Given the description of an element on the screen output the (x, y) to click on. 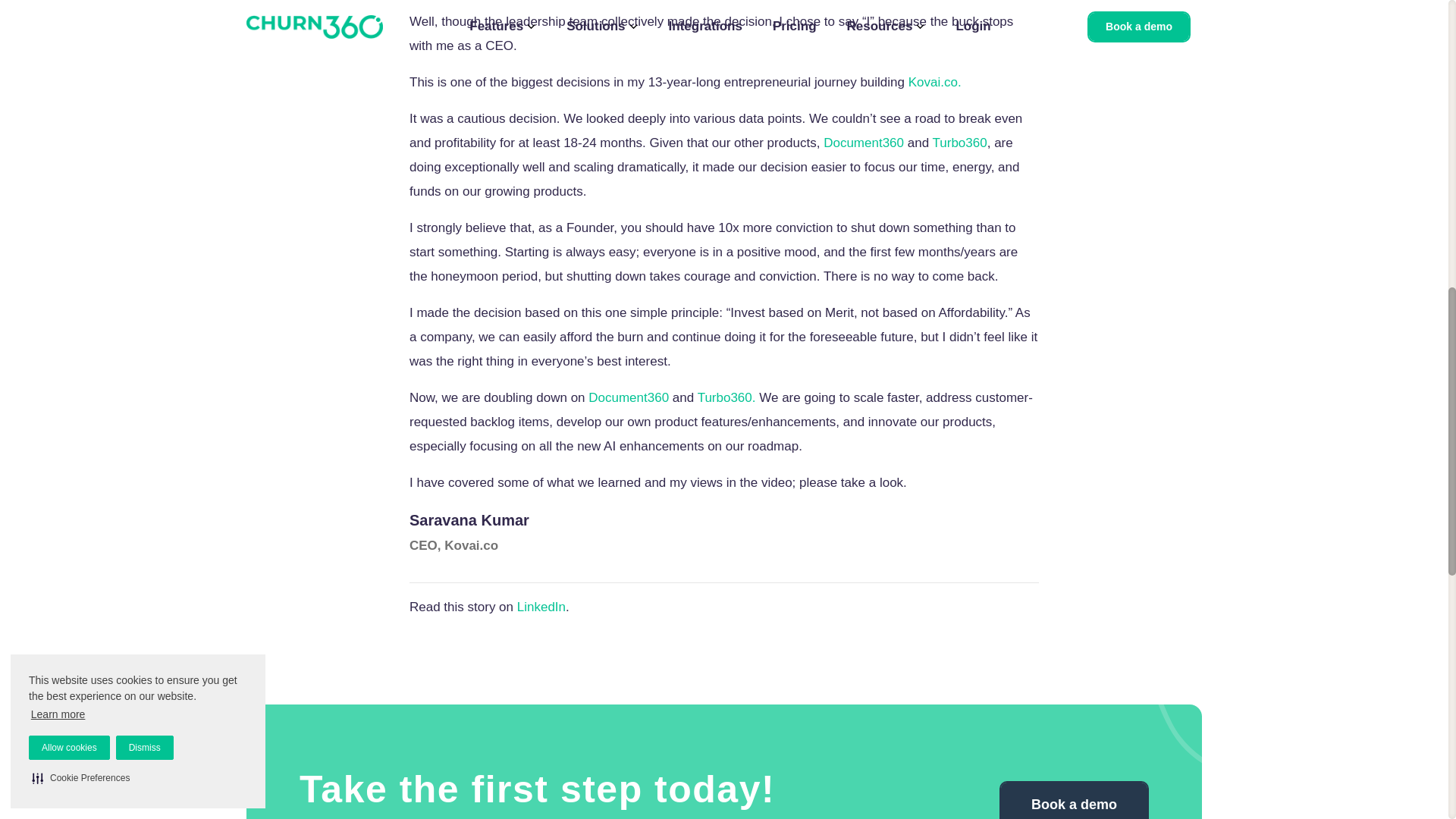
Kovai.co. (934, 82)
